Given the description of an element on the screen output the (x, y) to click on. 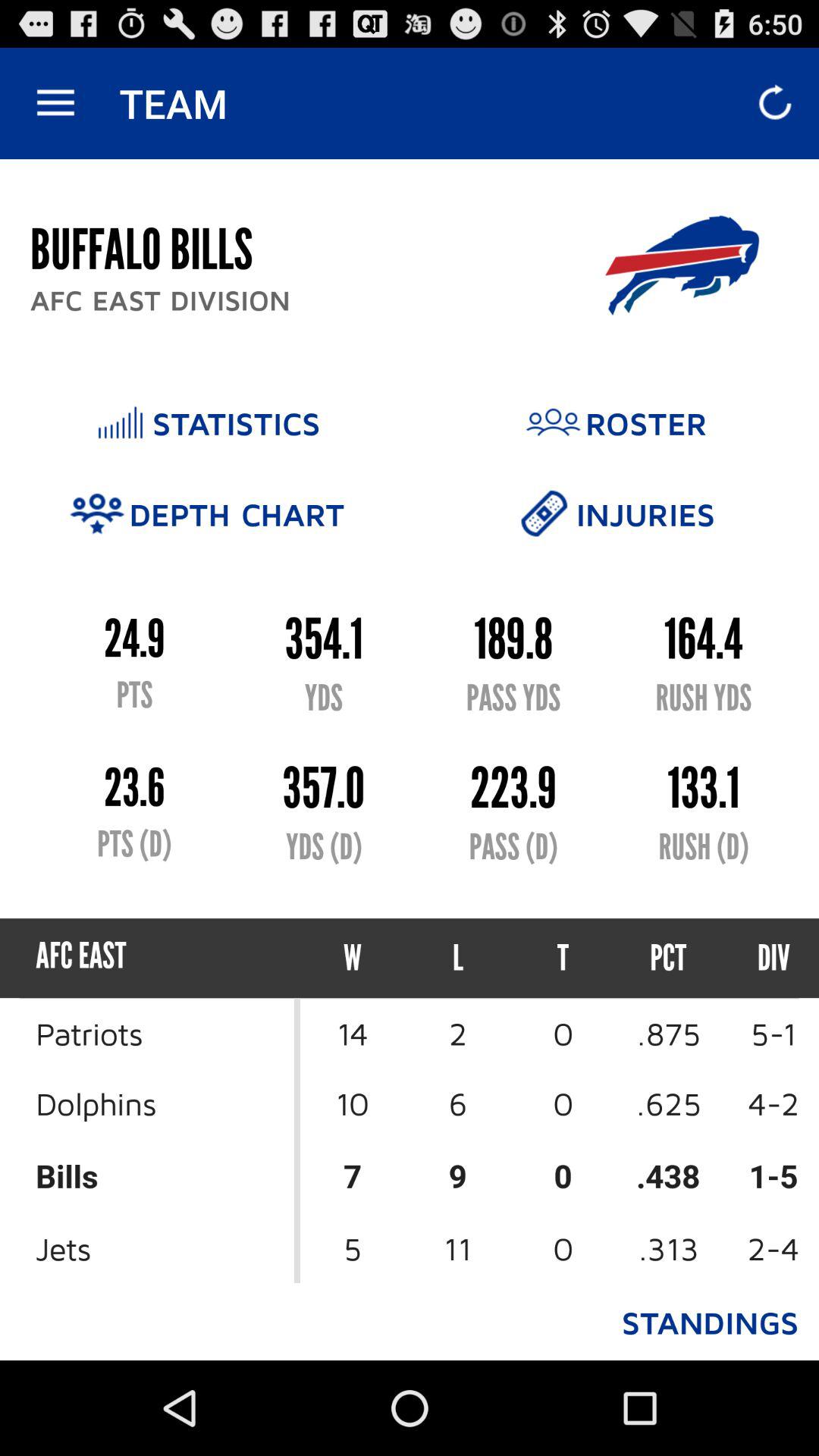
select the icon next to the team app (55, 103)
